Given the description of an element on the screen output the (x, y) to click on. 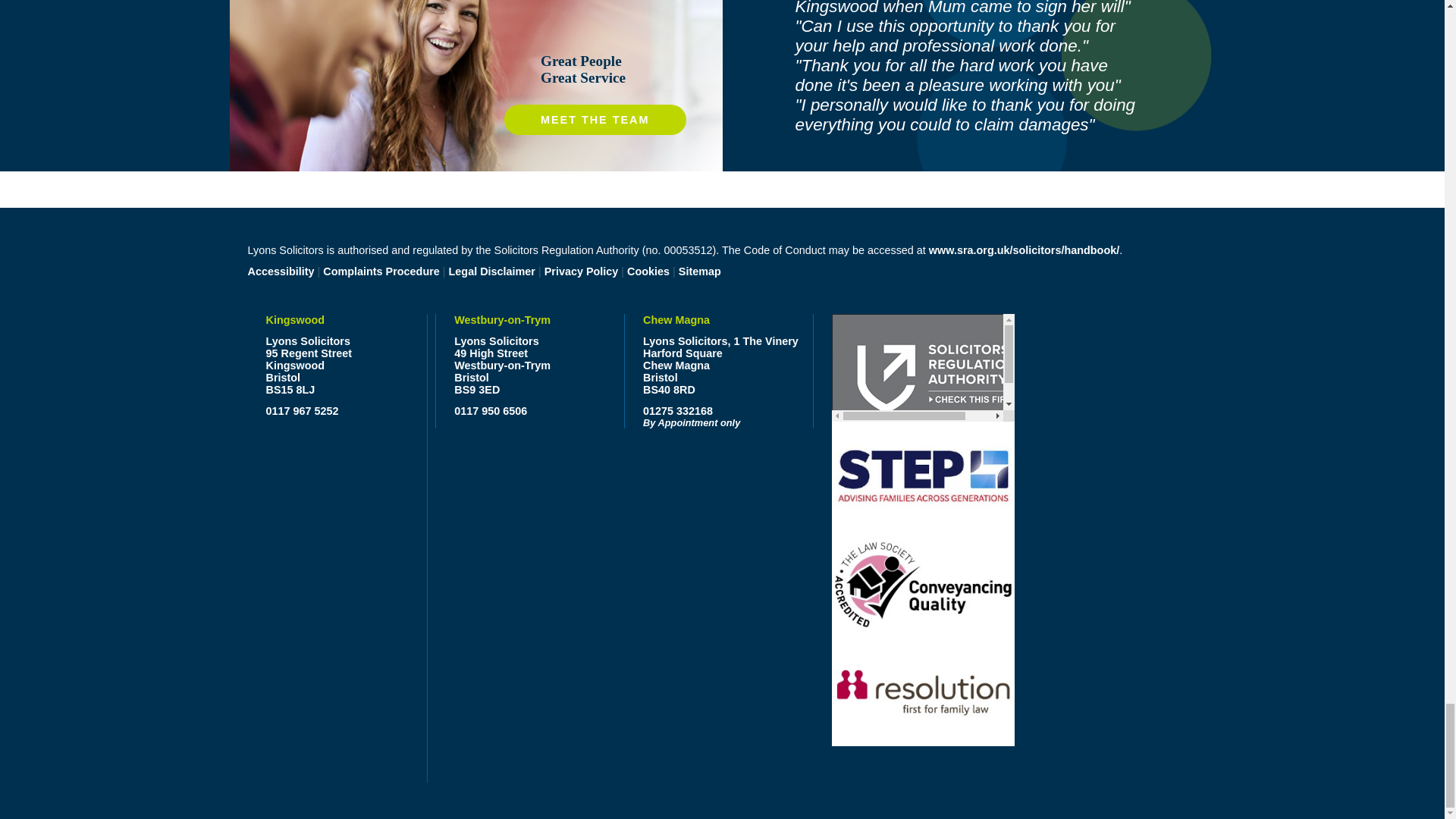
MEET THE TEAM (594, 119)
Accessibility (280, 271)
